Given the description of an element on the screen output the (x, y) to click on. 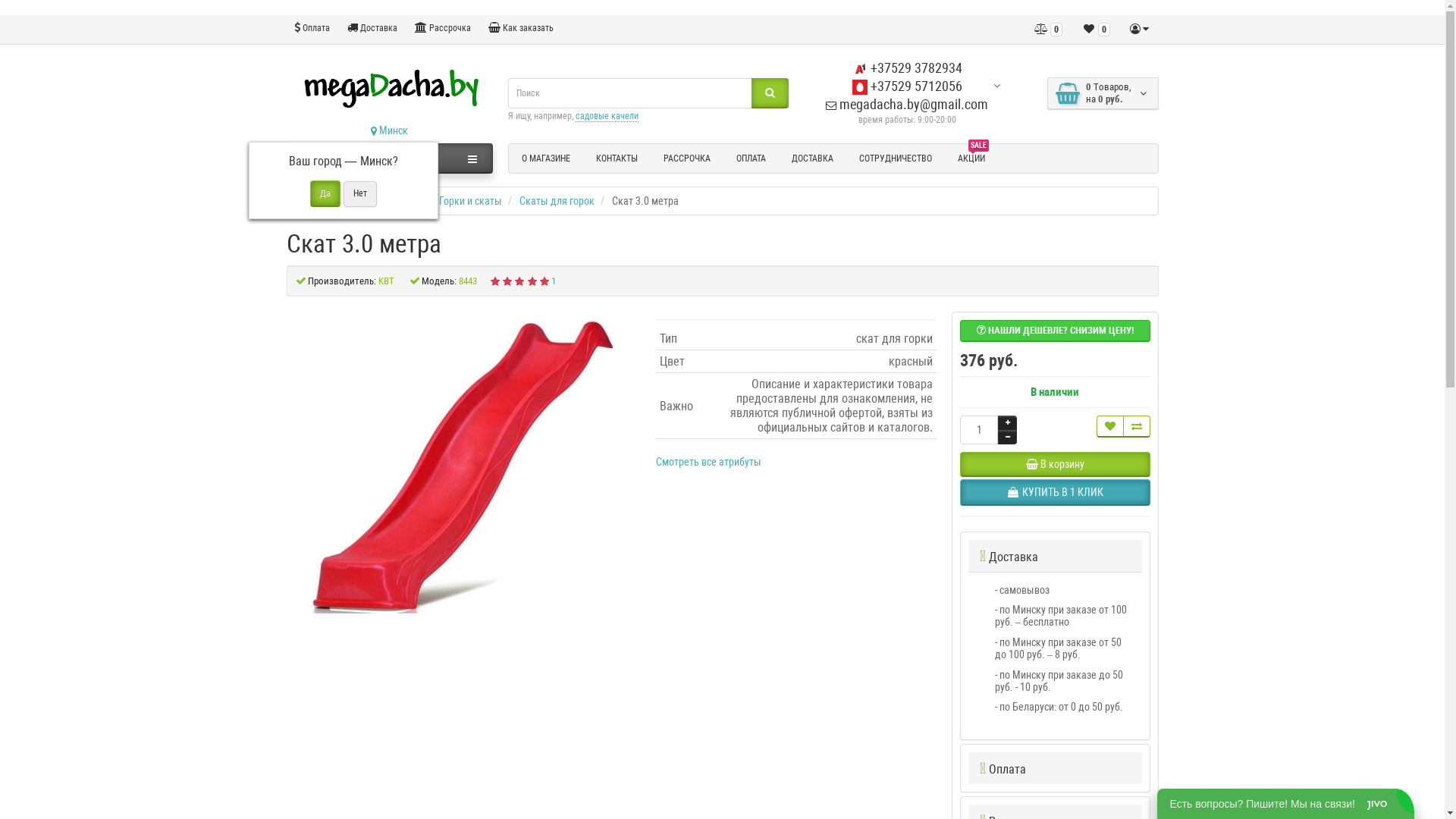
0 Element type: text (1047, 29)
1 Element type: text (553, 280)
+37529 5712056 Element type: text (907, 86)
KBT Element type: text (385, 280)
0 Element type: text (1096, 29)
megadacha.by@gmail.com Element type: text (906, 104)
+37529 3782934 Element type: text (907, 67)
